Given the description of an element on the screen output the (x, y) to click on. 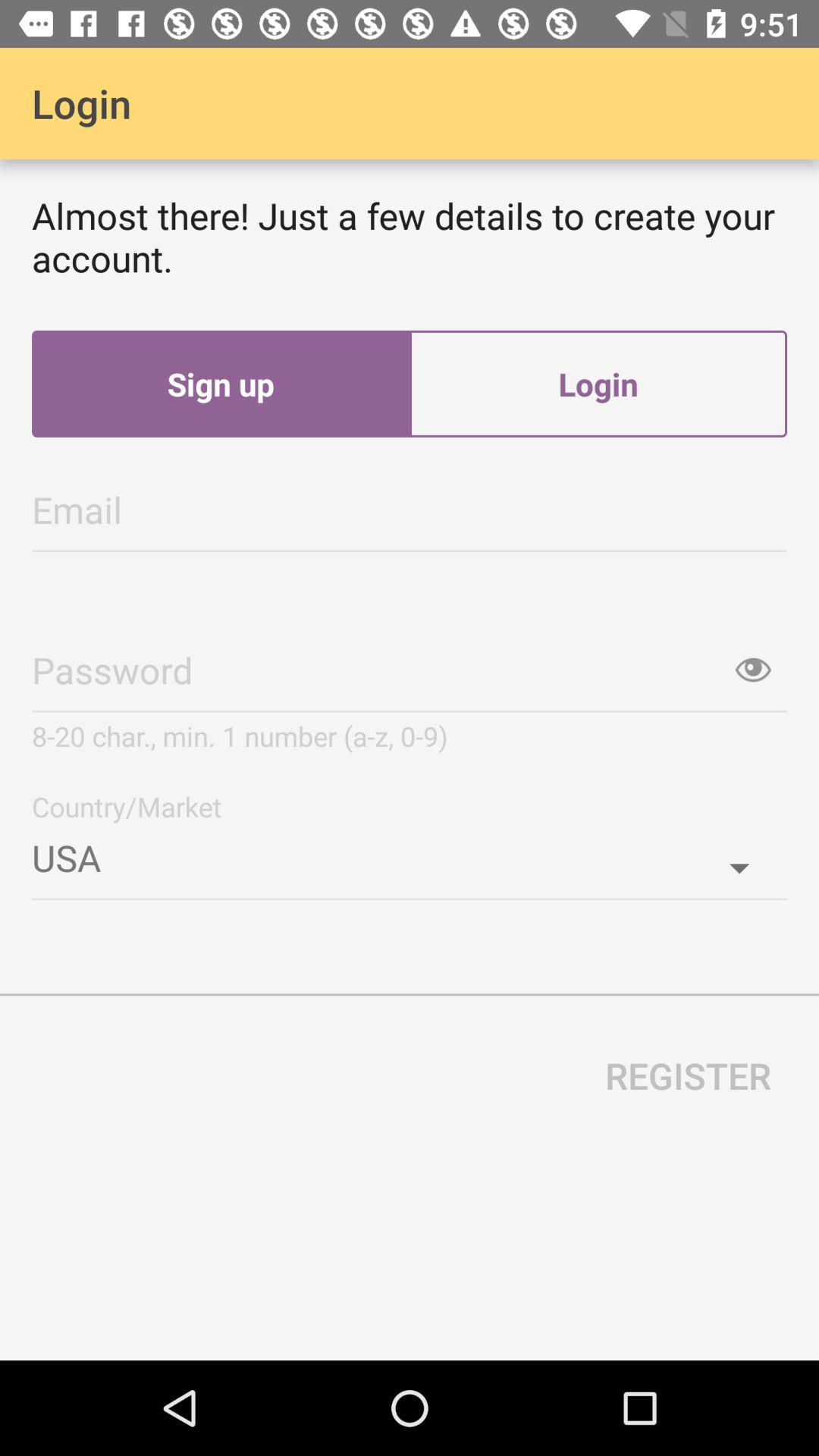
turn off the usa (409, 851)
